Given the description of an element on the screen output the (x, y) to click on. 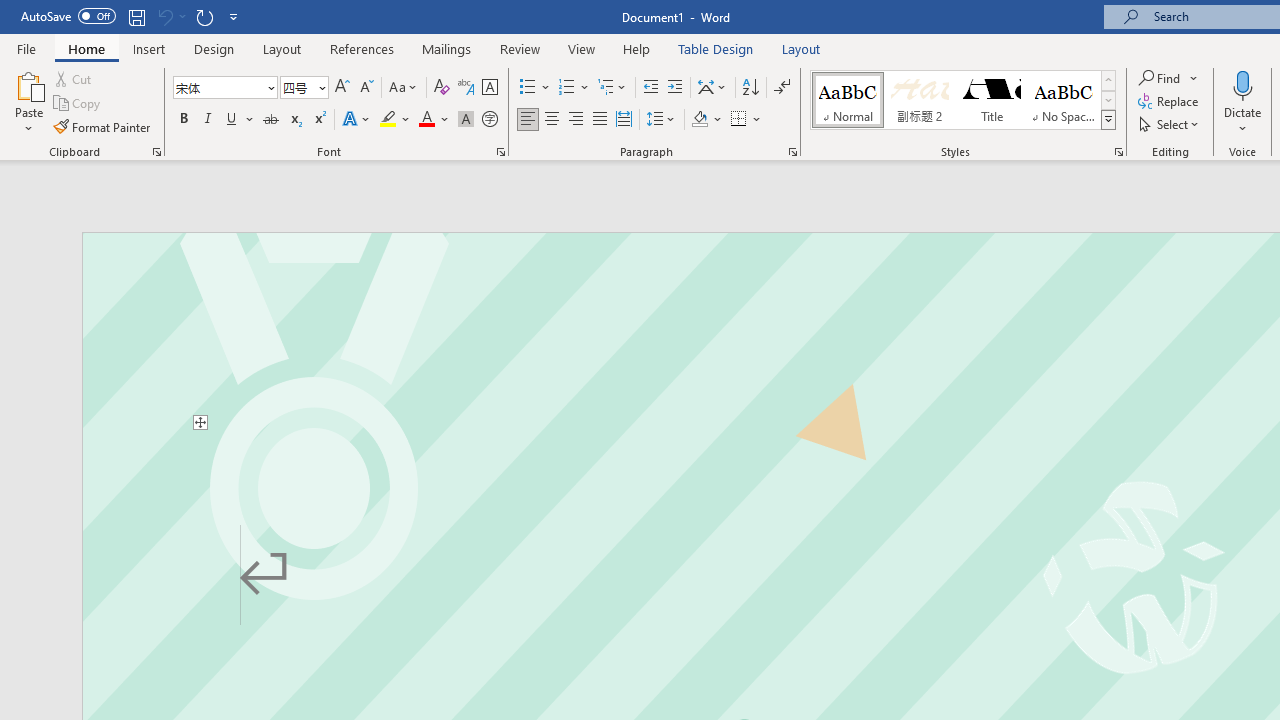
Show/Hide Editing Marks (781, 87)
Decrease Indent (650, 87)
Copy (78, 103)
Character Shading (465, 119)
Can't Undo (164, 15)
Title (991, 100)
